Given the description of an element on the screen output the (x, y) to click on. 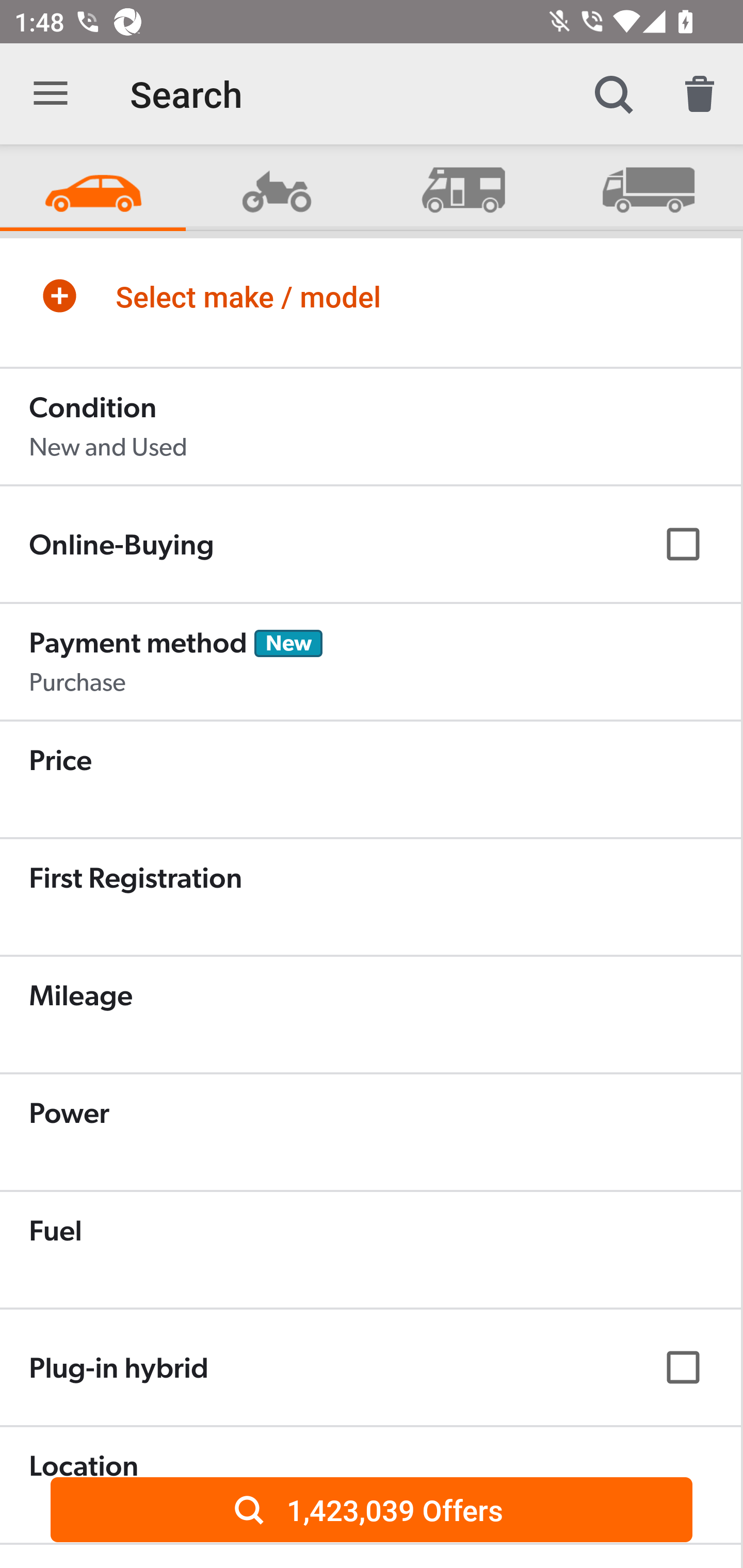
Open navigation bar (50, 93)
Search (612, 93)
Reset search (699, 93)
Select make / model (370, 296)
Condition New and Used (370, 426)
Online-Buying (370, 544)
Online-Buying (369, 543)
Payment method New Purchase (370, 661)
Price (370, 779)
First Registration (370, 896)
Mileage (370, 1014)
Power (370, 1132)
Fuel (370, 1249)
Plug-in hybrid (370, 1367)
Plug-in hybrid (369, 1367)
1,423,039 Offers (371, 1509)
